Given the description of an element on the screen output the (x, y) to click on. 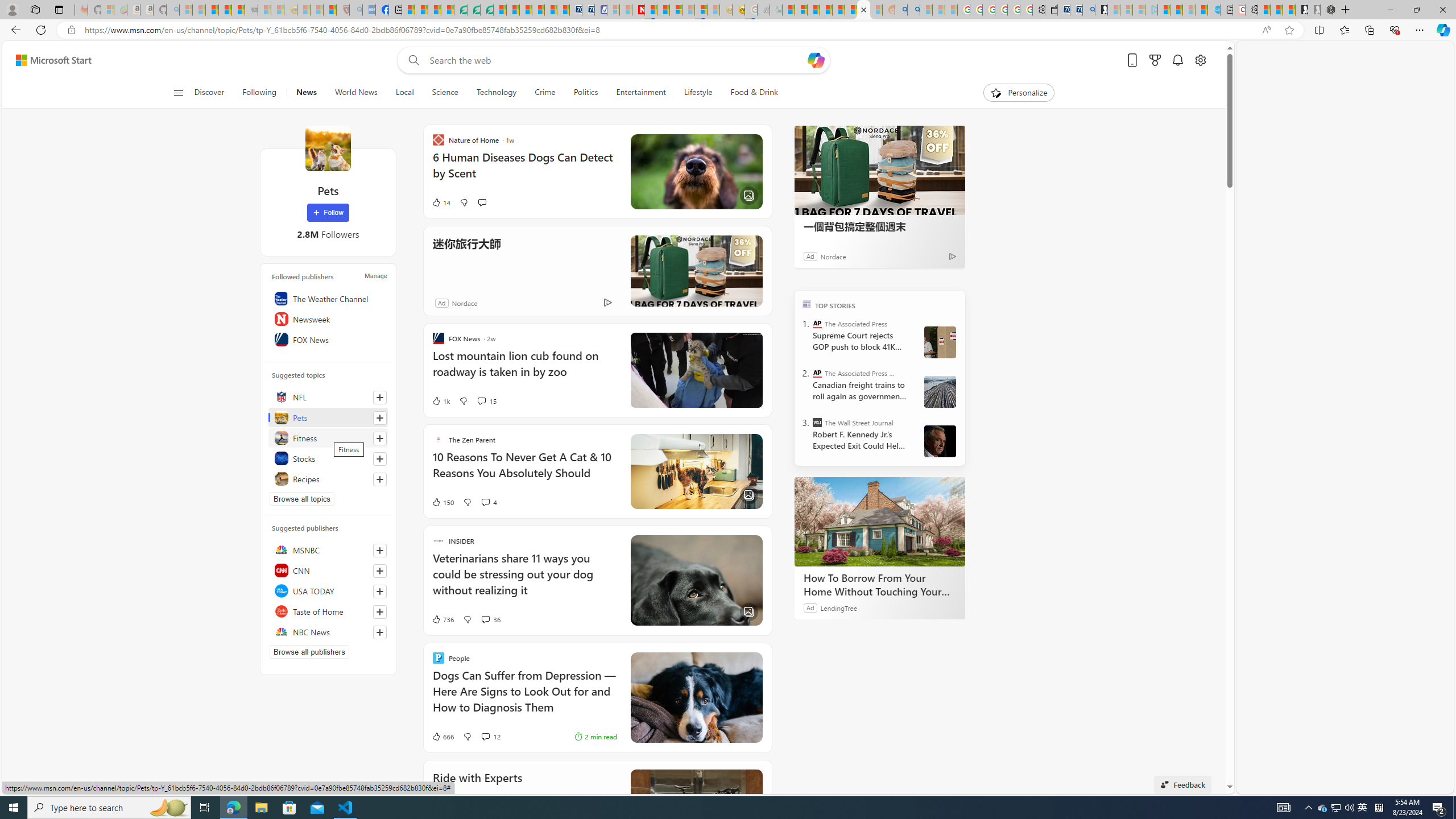
Copilot (Ctrl+Shift+.) (1442, 29)
Back (13, 29)
Microsoft-Report a Concern to Bing - Sleeping (107, 9)
Class: button-glyph (178, 92)
Ride with Experts (477, 793)
New Tab (1346, 9)
Sad dog. (696, 697)
Cheap Car Rentals - Save70.com (1076, 9)
The Weather Channel (327, 298)
Play Free Online Games | Games from Microsoft Start (1301, 9)
